Given the description of an element on the screen output the (x, y) to click on. 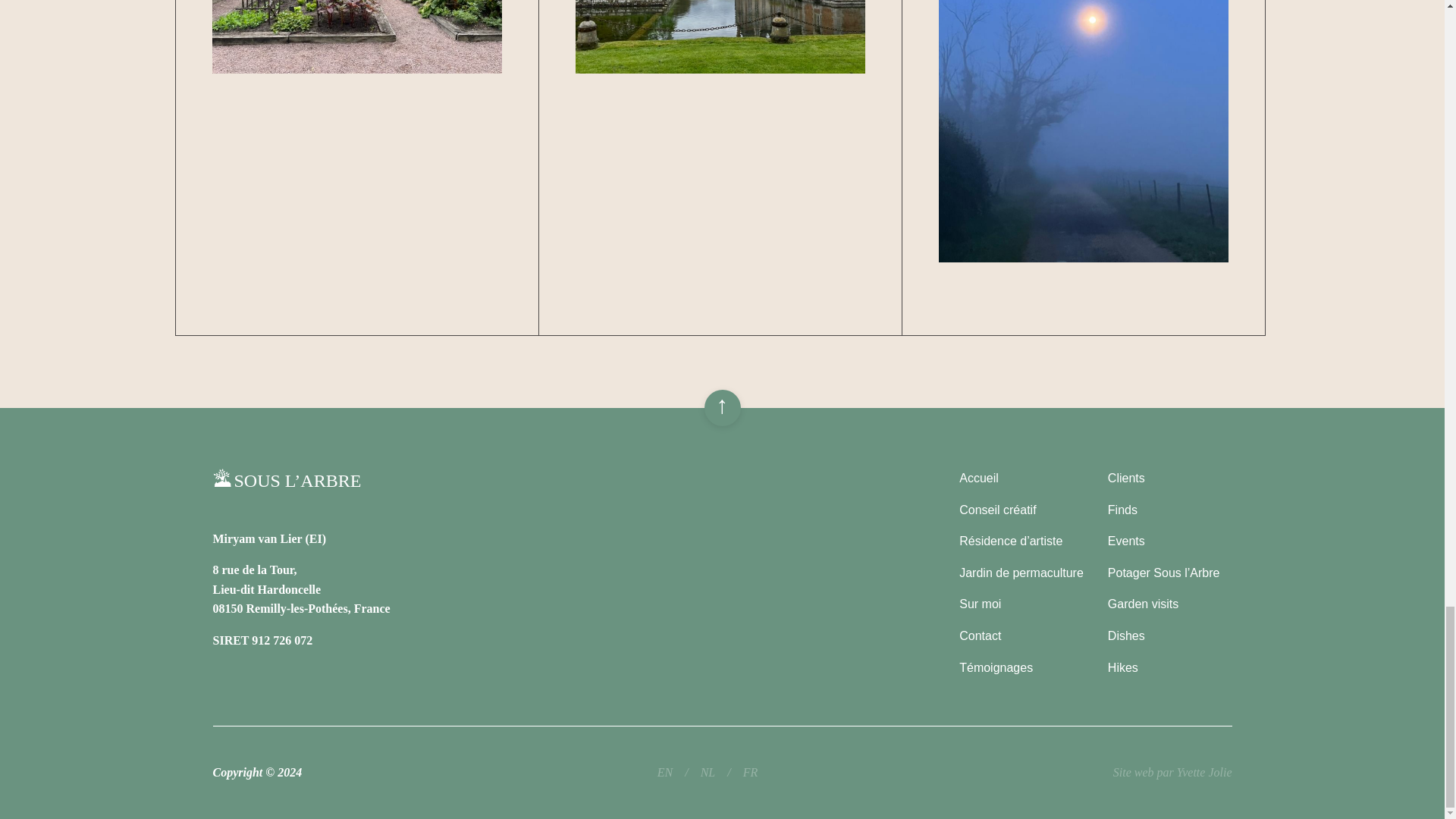
Accueil (978, 477)
Back to top (721, 407)
Clients (1126, 477)
Jardin de permaculture (1021, 572)
Contact (980, 635)
Full moon, Hardoncelle, 7 a.m. Oct 2023 (1083, 167)
Sur moi (980, 603)
